Given the description of an element on the screen output the (x, y) to click on. 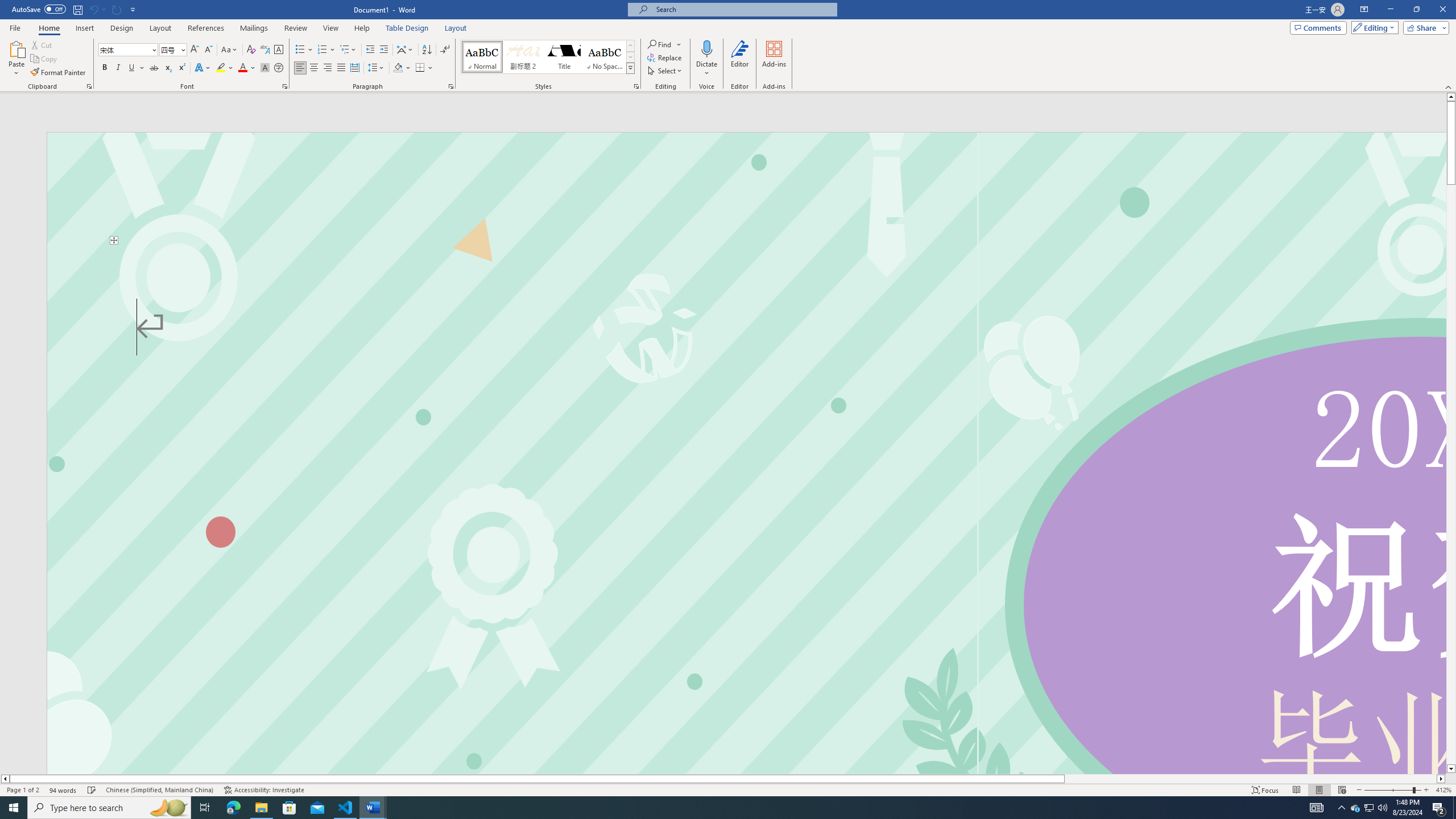
Column left (5, 778)
AutomationID: QuickStylesGallery (548, 56)
